Given the description of an element on the screen output the (x, y) to click on. 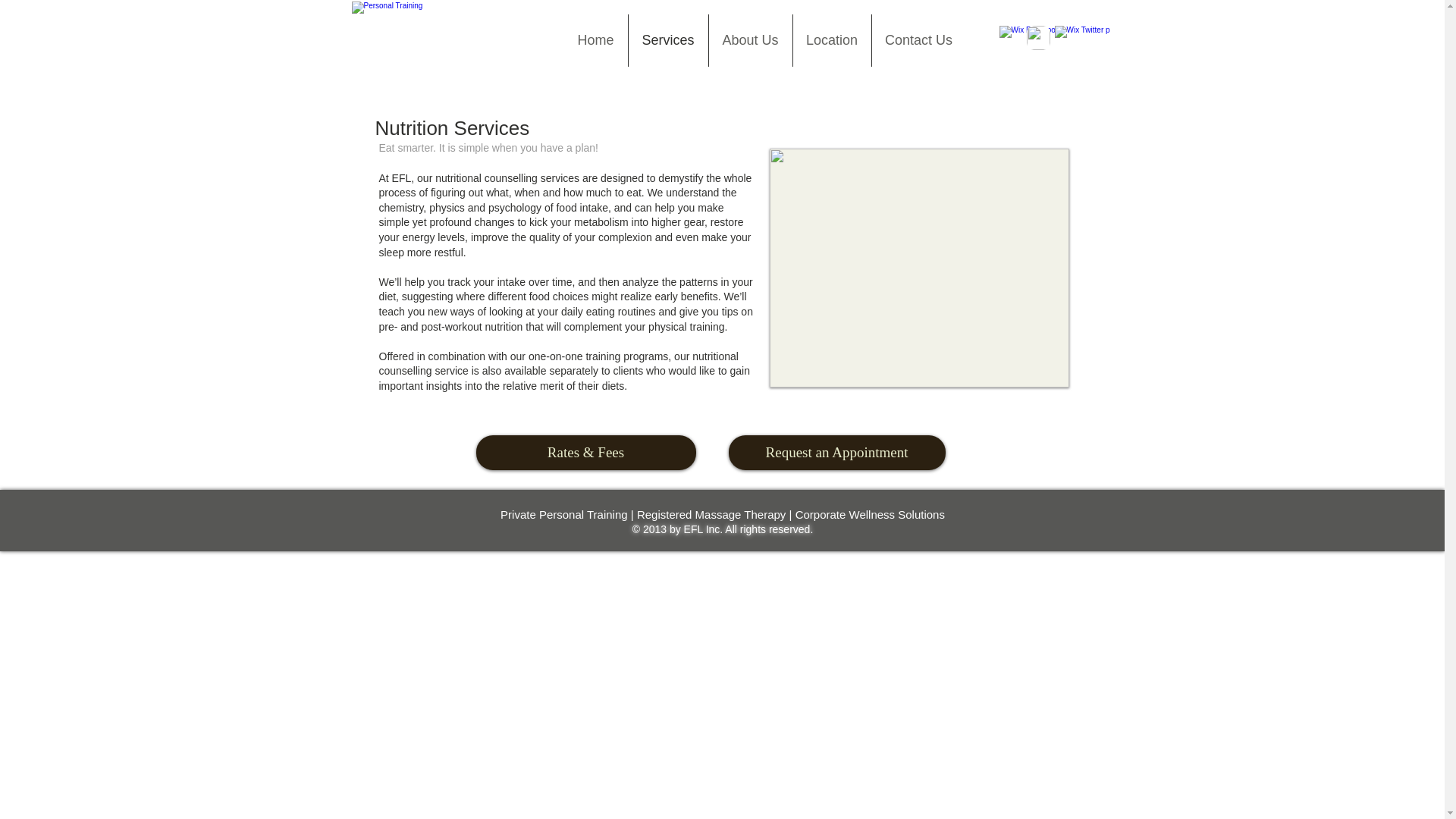
Location (831, 40)
About Us (749, 40)
Private Personal Training (563, 513)
Request an Appointment (836, 452)
Corporate Wellness Solutions (869, 513)
1-EFL-Logo-Stacked.gif (452, 36)
Home (595, 40)
Registered Massage Therapy (711, 513)
Services (667, 40)
Contact Us (919, 40)
